Given the description of an element on the screen output the (x, y) to click on. 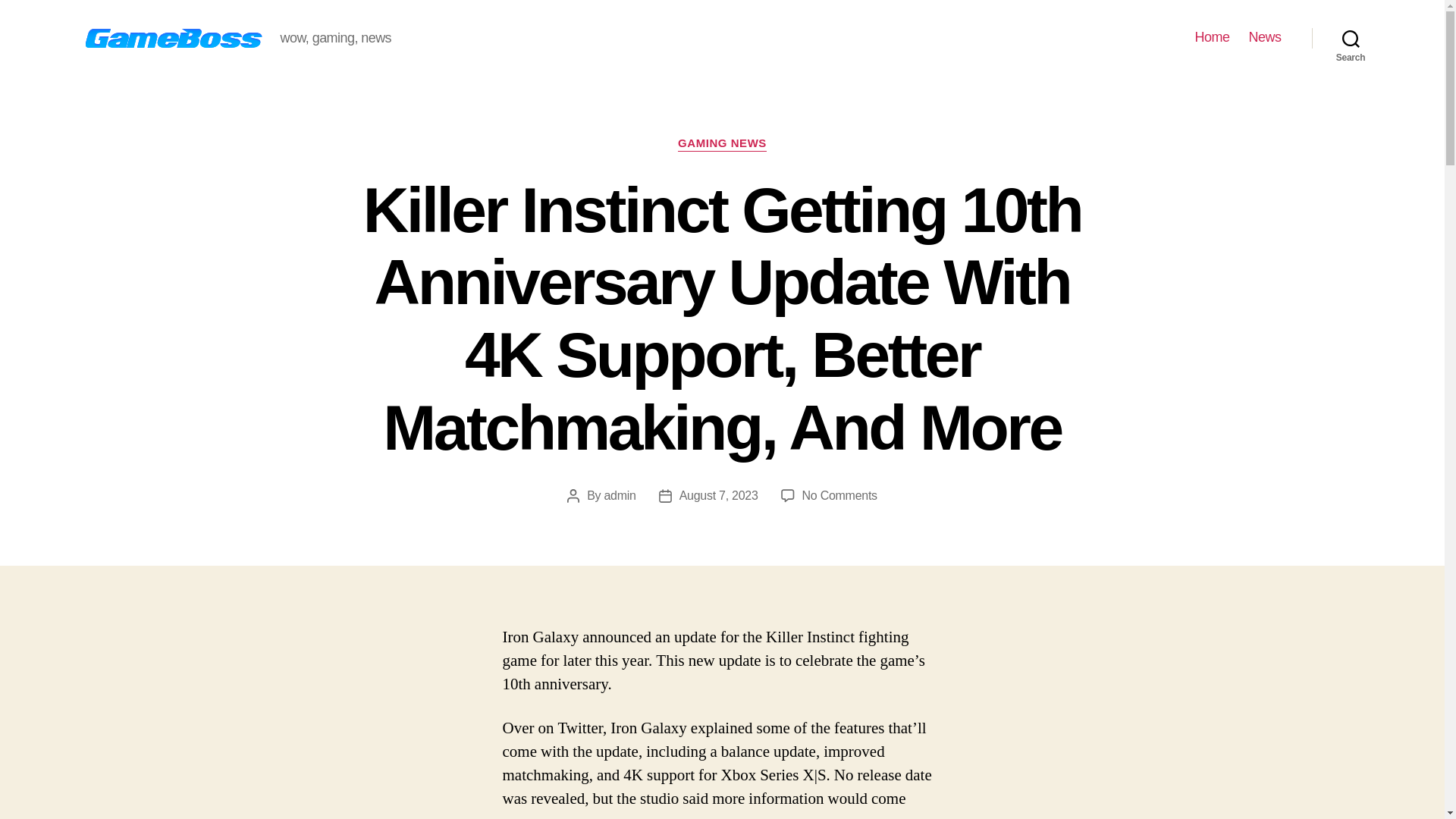
admin (619, 495)
News (1264, 37)
GAMING NEWS (722, 143)
Search (1350, 37)
August 7, 2023 (718, 495)
Home (1210, 37)
